Given the description of an element on the screen output the (x, y) to click on. 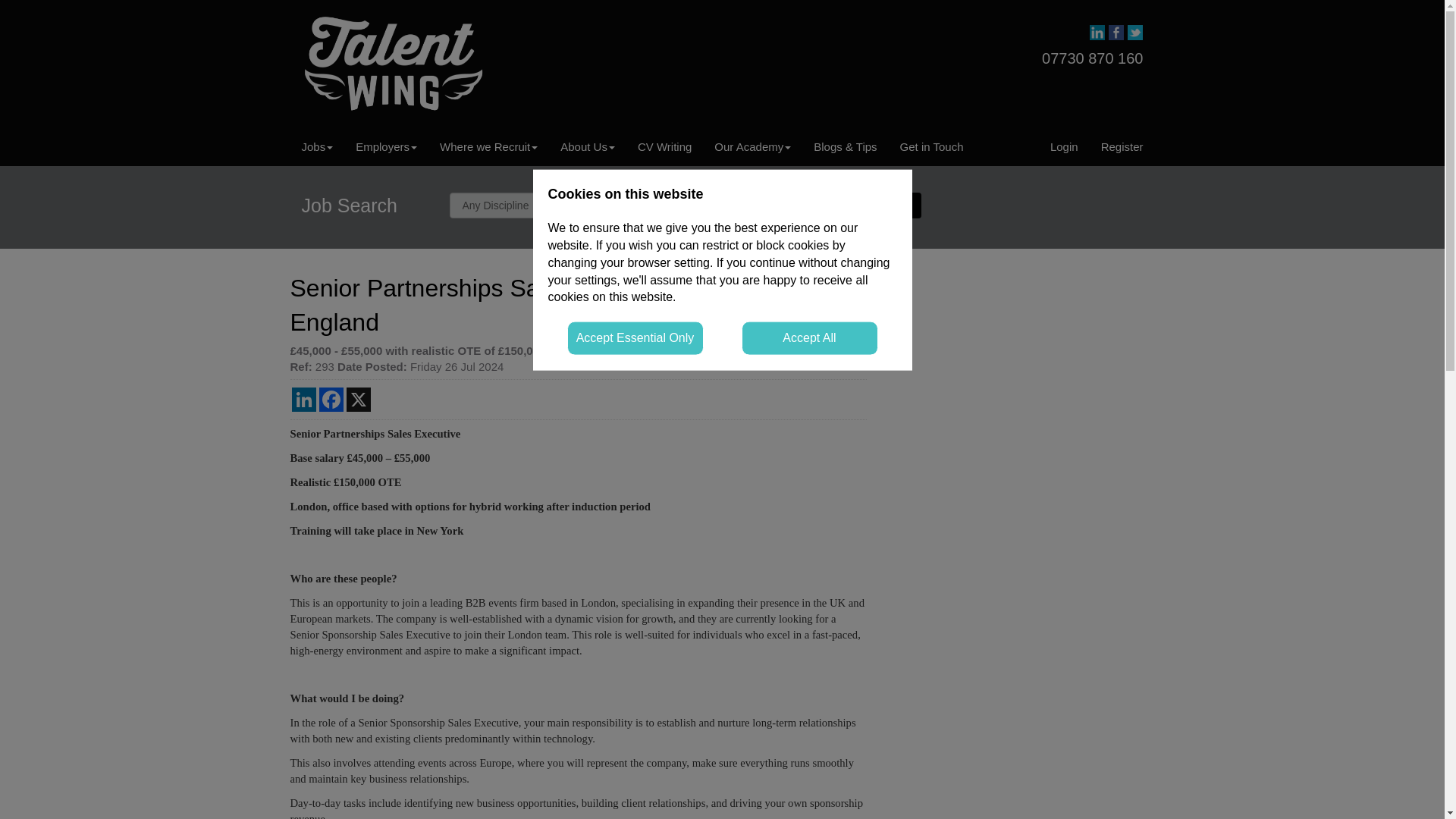
Get in Touch (931, 146)
Jobs (316, 146)
Register (1121, 146)
X (357, 399)
Search (893, 205)
Facebook (330, 399)
About Us (587, 146)
CV Writing (664, 146)
Login (1064, 146)
Search (893, 205)
LinkedIn (303, 399)
Where we Recruit (488, 146)
Search (893, 205)
Employers (385, 146)
Our Academy (752, 146)
